Given the description of an element on the screen output the (x, y) to click on. 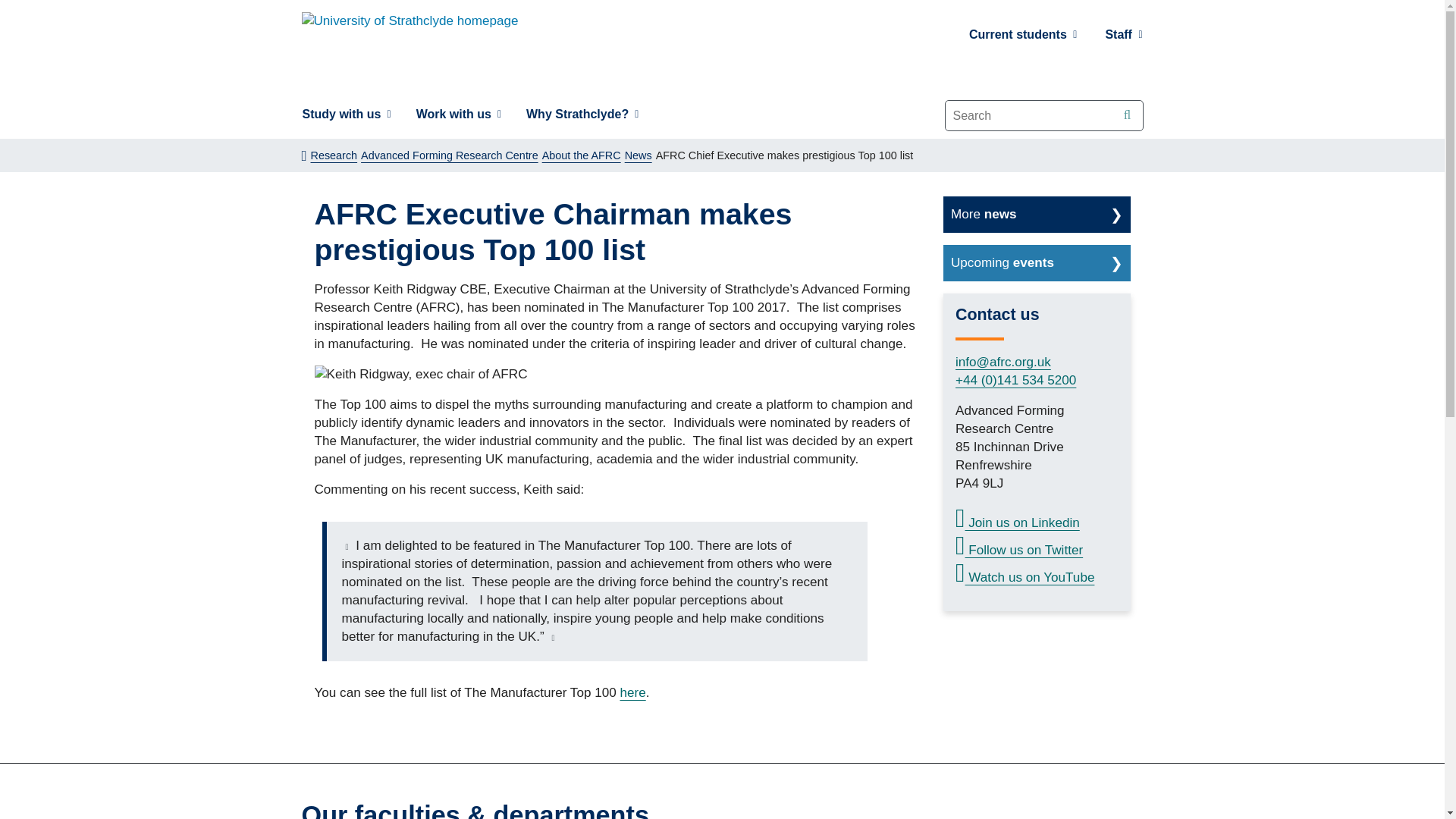
Current students (1024, 34)
Study with us (346, 113)
Work with us (457, 113)
Why Strathclyde? (582, 113)
Keith Ridgway, exec chair of AFRC (420, 374)
